Given the description of an element on the screen output the (x, y) to click on. 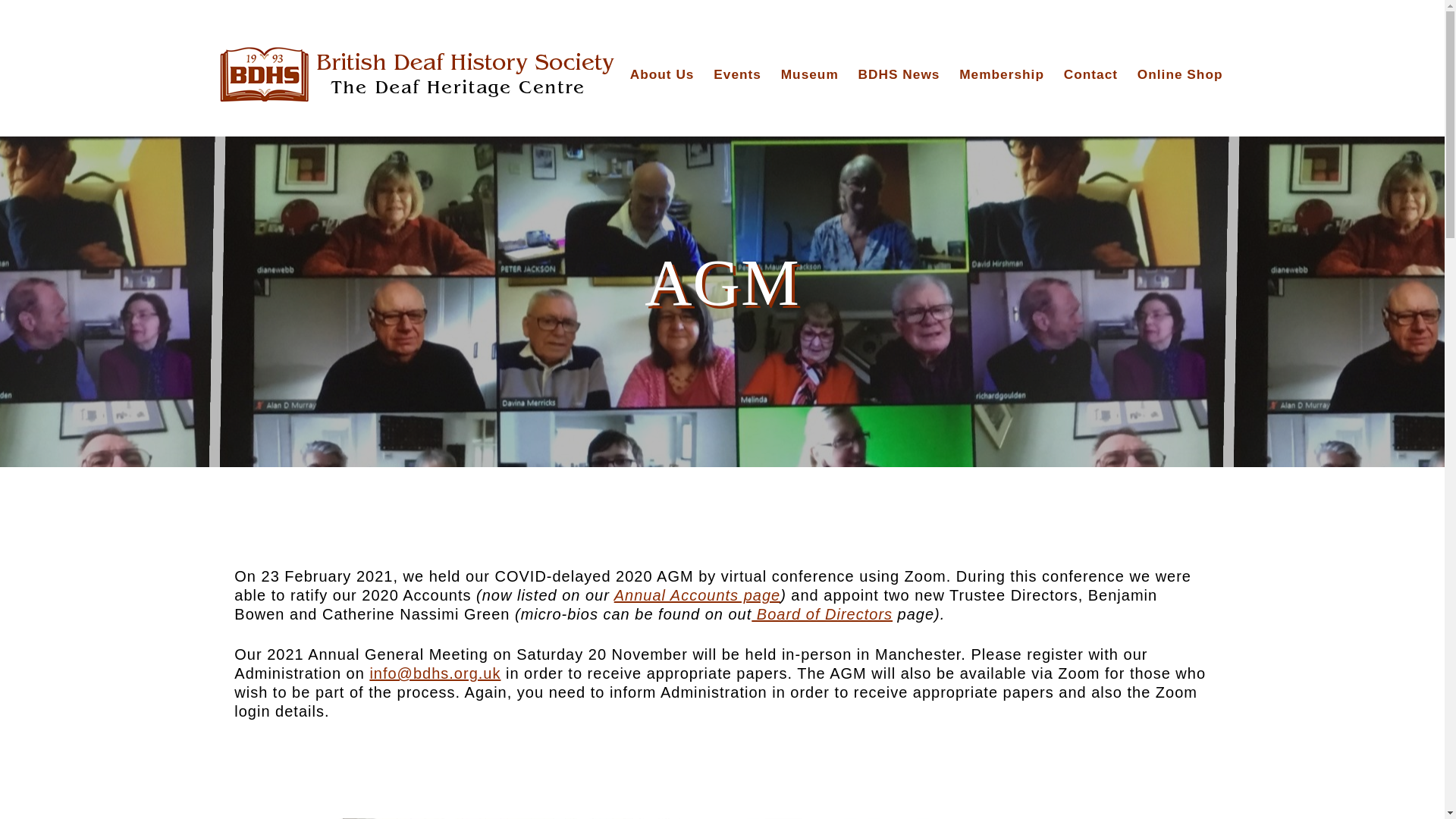
British Deaf History Society (417, 75)
BDHS News (898, 74)
Online Shop (1179, 74)
Events (737, 74)
About Us (662, 74)
Annual Accounts page (697, 595)
Membership (1001, 74)
Museum (809, 74)
Board of Directors (821, 614)
